Given the description of an element on the screen output the (x, y) to click on. 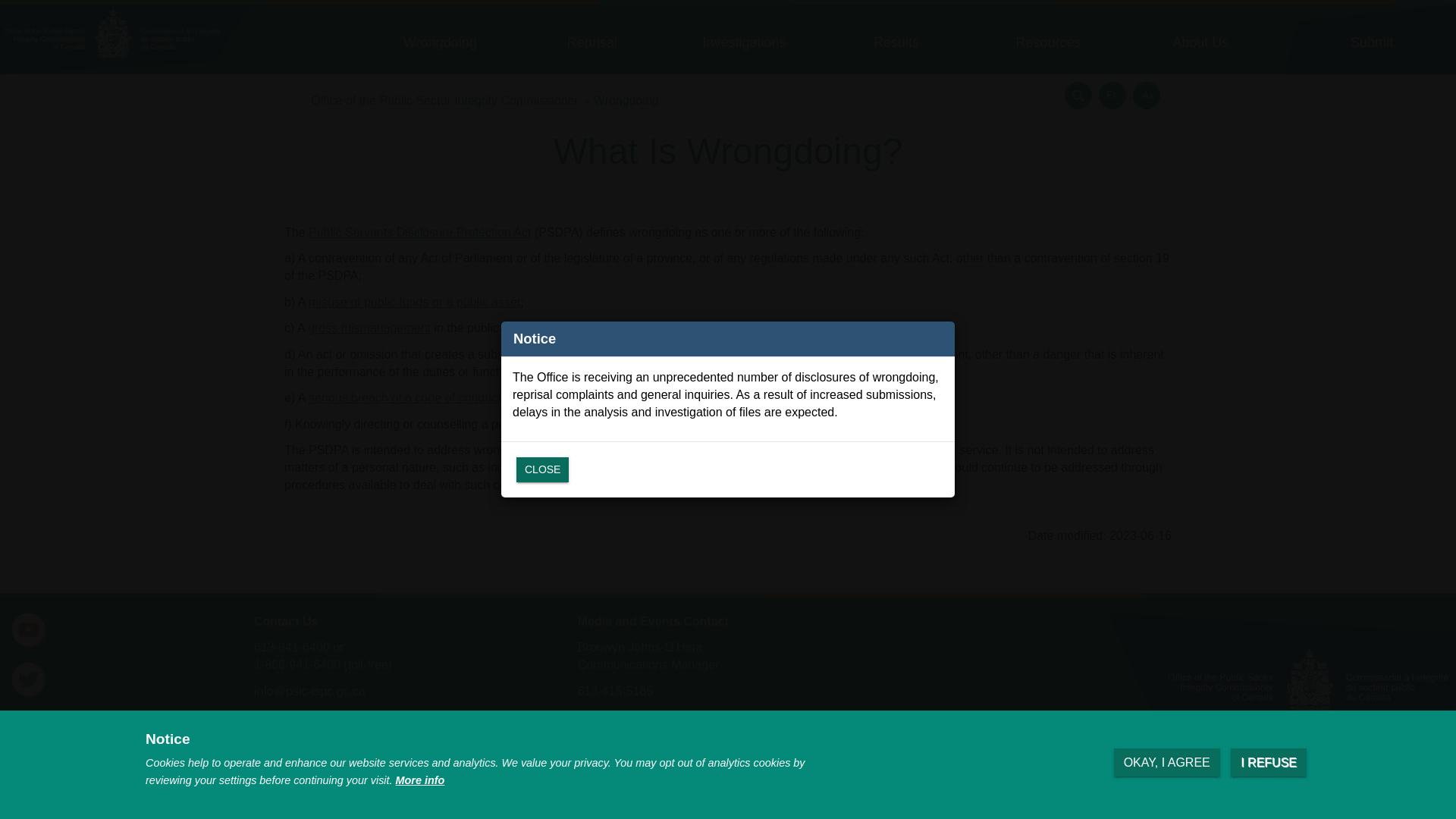
YouTube Channel (28, 630)
Close overlay (542, 469)
Office Coordinates (309, 716)
Wrongdoing (440, 46)
Reprisal (592, 46)
Twitter Account (28, 680)
Results (896, 46)
Home (125, 38)
Resources (1048, 46)
Investigations (744, 46)
RSS Feed (28, 730)
Open Search (1078, 94)
